Given the description of an element on the screen output the (x, y) to click on. 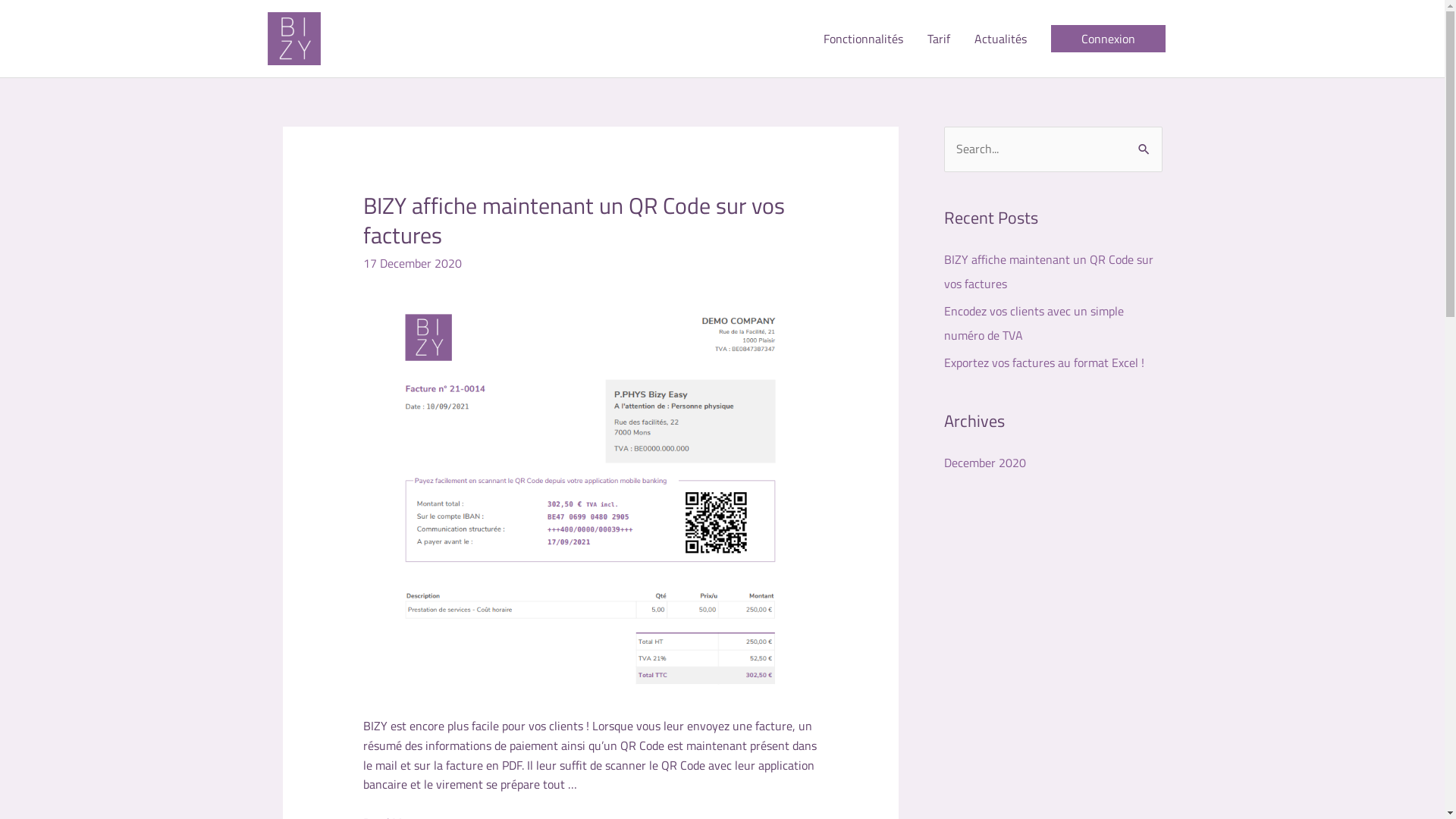
Search Element type: text (1145, 142)
BIZY affiche maintenant un QR Code sur vos factures Element type: text (573, 220)
Tarif Element type: text (937, 38)
Connexion Element type: text (1108, 38)
BIZY affiche maintenant un QR Code sur vos factures Element type: text (1047, 271)
Exportez vos factures au format Excel ! Element type: text (1043, 362)
December 2020 Element type: text (984, 462)
